Given the description of an element on the screen output the (x, y) to click on. 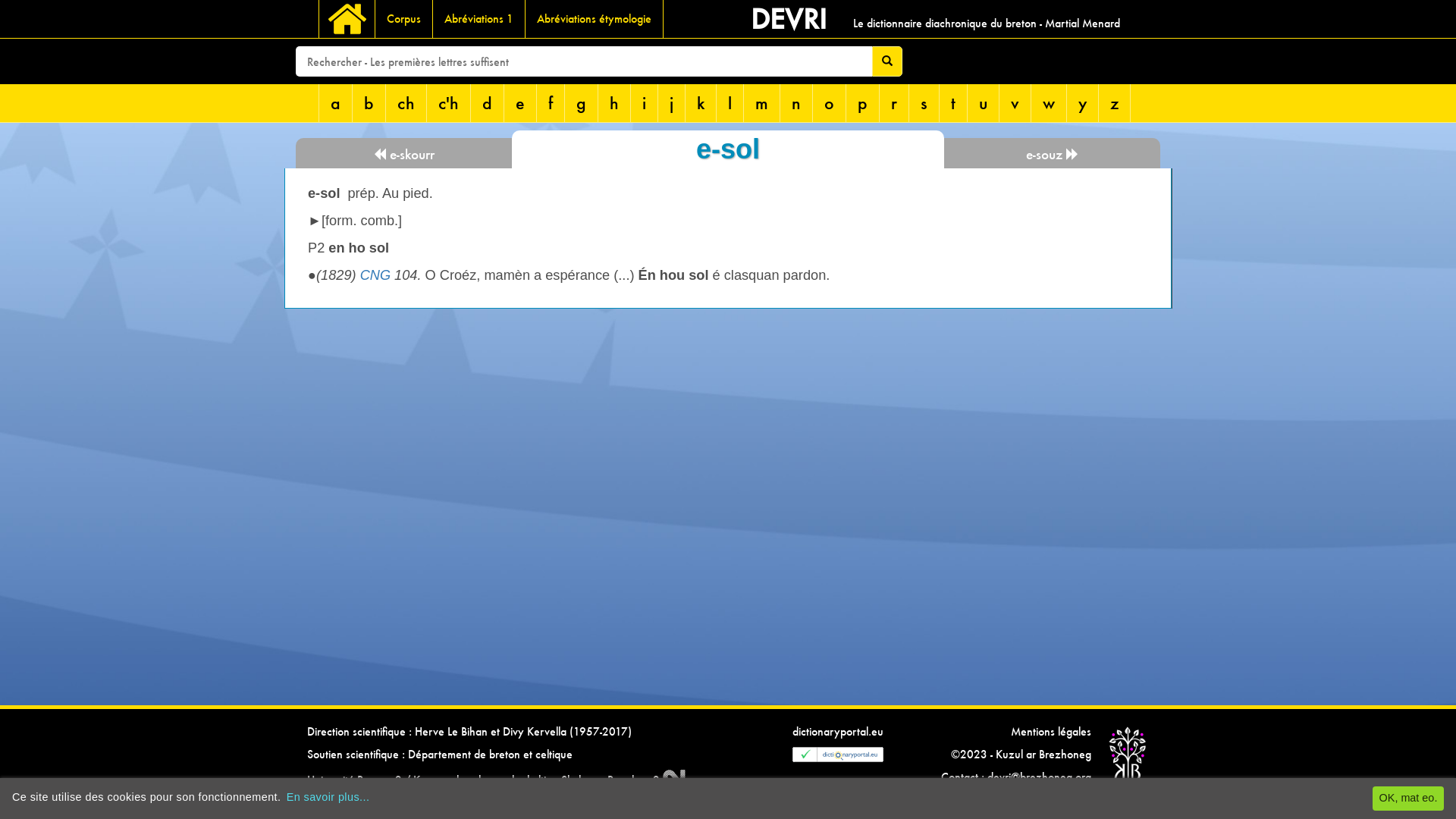
v Element type: text (1015, 103)
c'h Element type: text (448, 103)
m Element type: text (761, 103)
y Element type: text (1082, 103)
CNG Element type: text (375, 274)
d Element type: text (487, 103)
j Element type: text (671, 103)
dictionaryportal.eu Element type: text (837, 731)
t Element type: text (953, 103)
ch Element type: text (405, 103)
s Element type: text (924, 103)
f Element type: text (550, 103)
l Element type: text (729, 103)
g Element type: text (581, 103)
e Element type: text (520, 103)
En savoir plus... Element type: text (328, 796)
OK, mat eo. Element type: text (1407, 798)
r Element type: text (894, 103)
w Element type: text (1048, 103)
a Element type: text (335, 103)
b Element type: text (368, 103)
e-skourr Element type: text (403, 153)
e-souz Element type: text (1052, 153)
i Element type: text (644, 103)
z Element type: text (1114, 103)
Corpus Element type: text (404, 18)
o Element type: text (829, 103)
k Element type: text (700, 103)
h Element type: text (614, 103)
u Element type: text (983, 103)
n Element type: text (796, 103)
p Element type: text (862, 103)
